Given the description of an element on the screen output the (x, y) to click on. 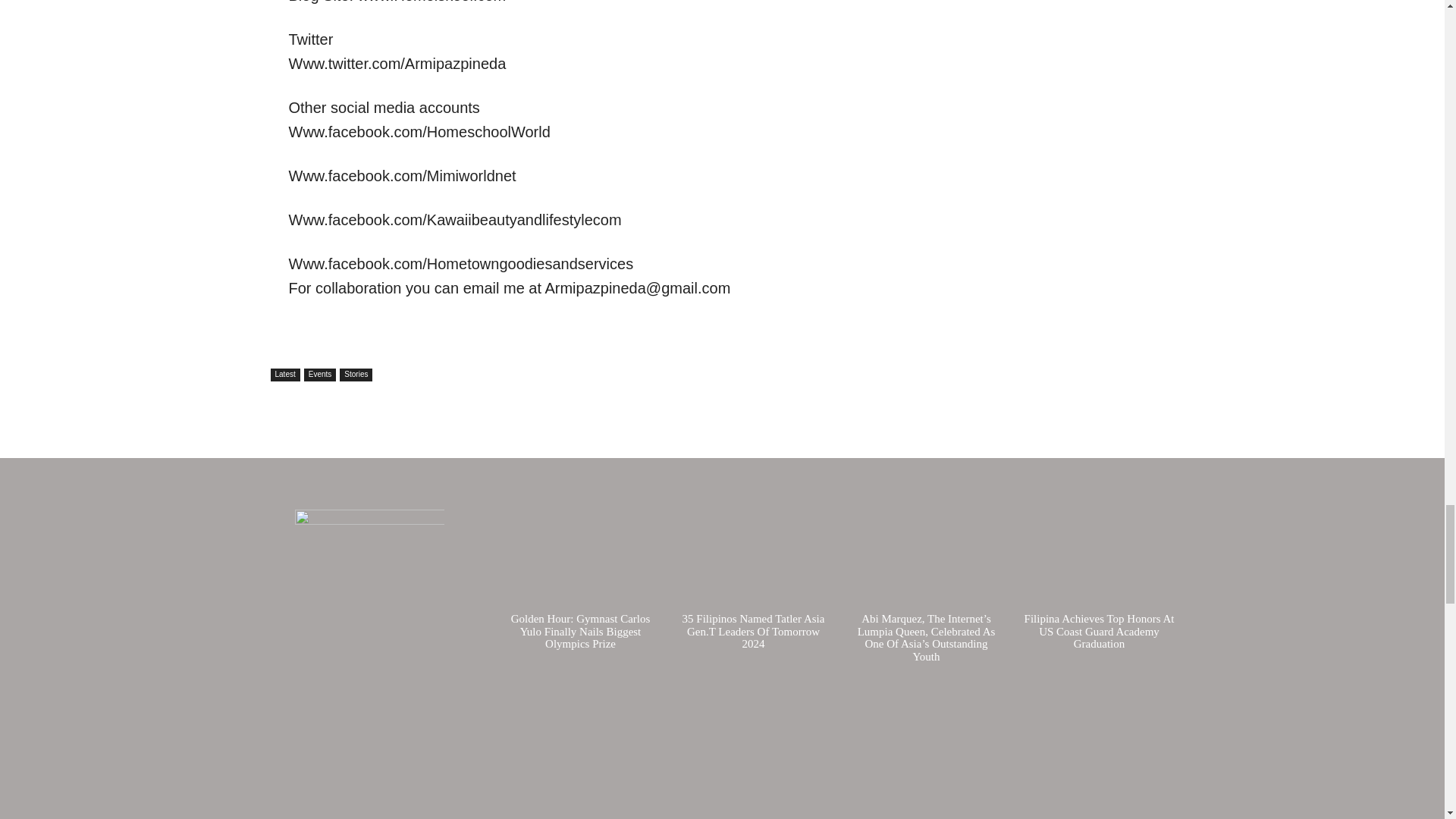
Stories (355, 374)
Latest (284, 374)
Events (320, 374)
